Given the description of an element on the screen output the (x, y) to click on. 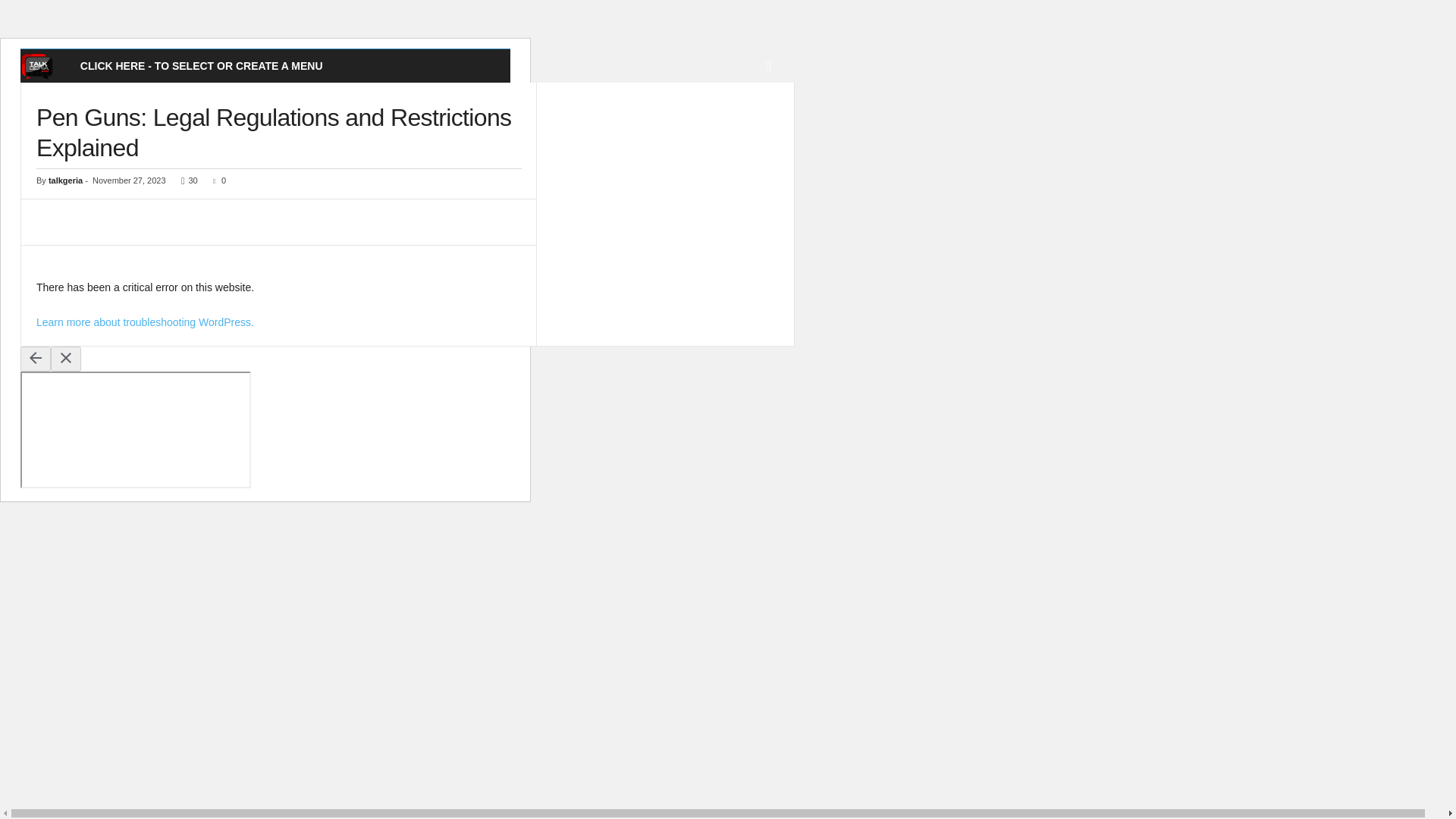
talkgeria (65, 180)
Learn more about troubleshooting WordPress. (144, 322)
CLICK HERE - TO SELECT OR CREATE A MENU (201, 65)
0 (215, 180)
Talkgeria.com (44, 66)
